Given the description of an element on the screen output the (x, y) to click on. 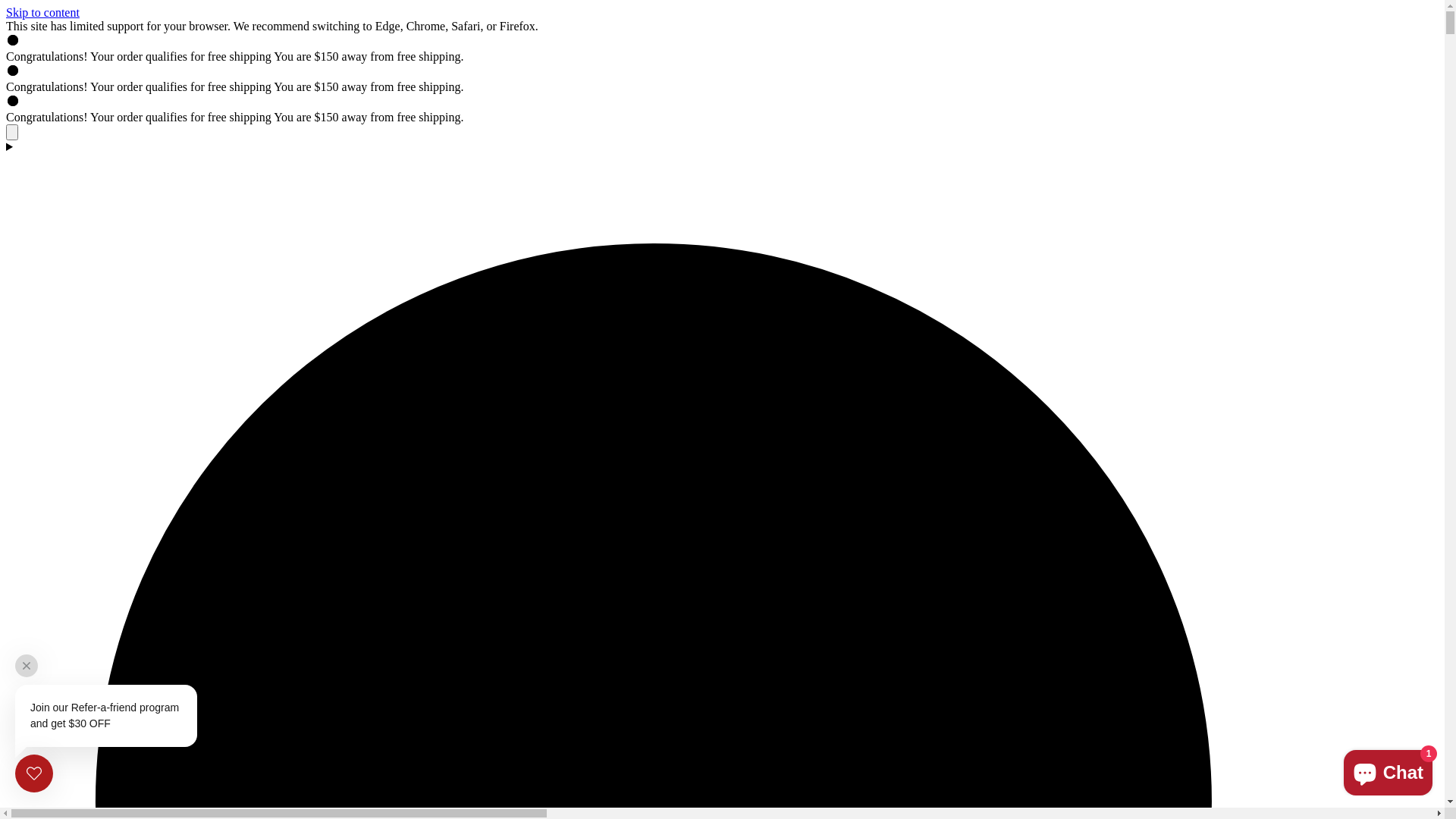
Skip to content Element type: text (42, 12)
Shopify online store chat Element type: hover (1388, 769)
